Given the description of an element on the screen output the (x, y) to click on. 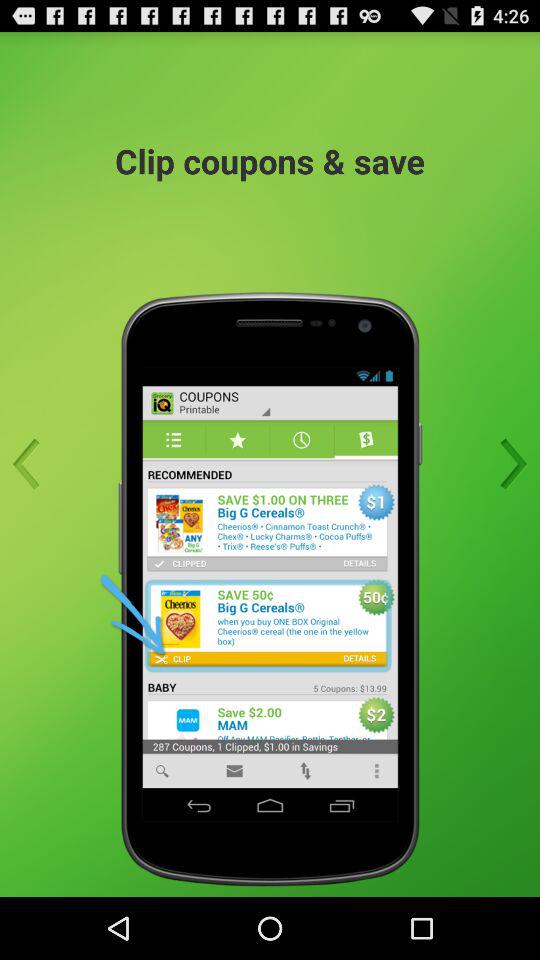
go to back (32, 464)
